Given the description of an element on the screen output the (x, y) to click on. 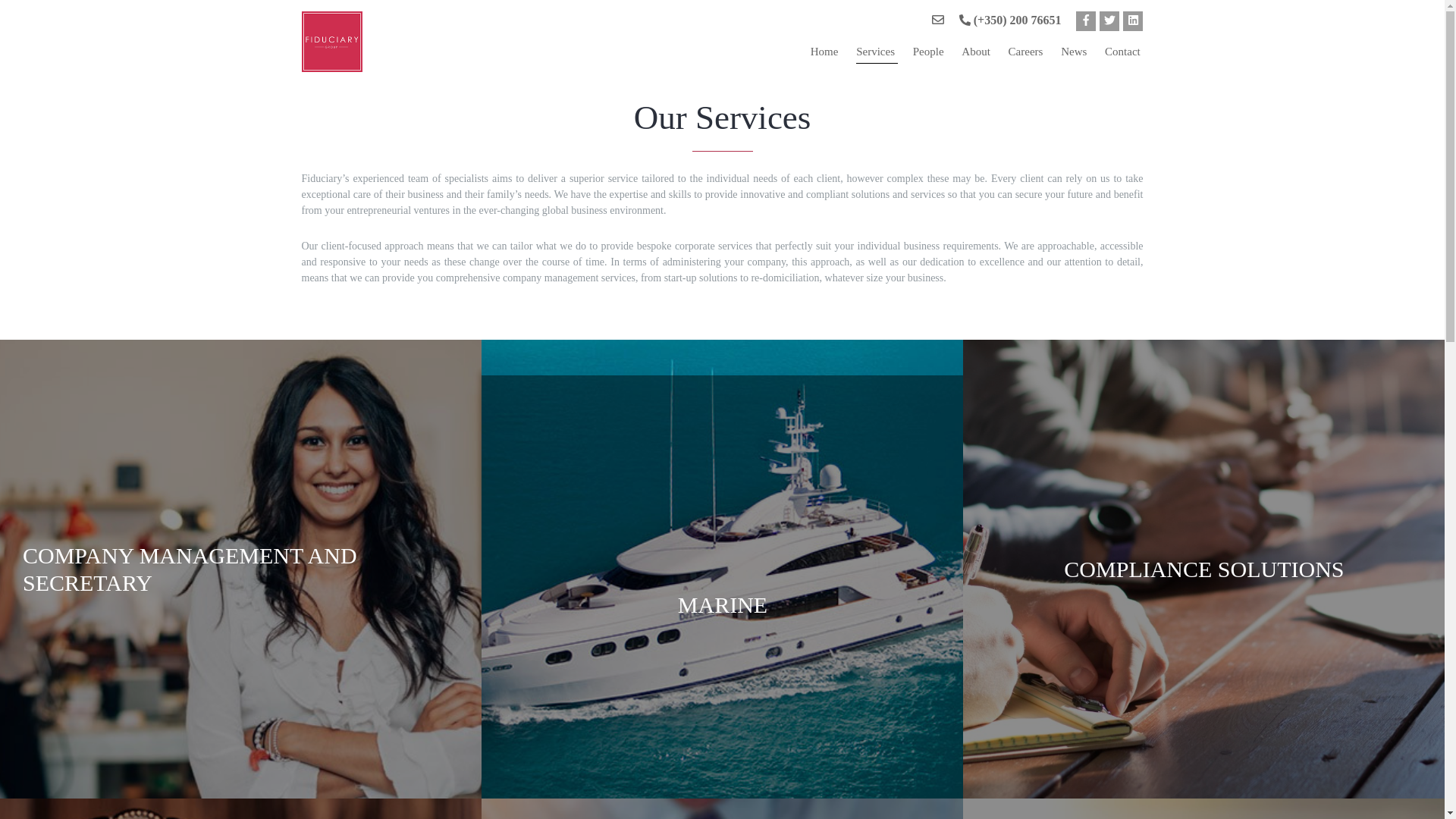
Careers (1027, 52)
Fiduciary Group (434, 45)
Contact (1123, 52)
Follow Us on LinkedIn (1132, 21)
Home (825, 52)
Follow Us on Facebook (1085, 21)
Services (877, 52)
Call Us (1010, 23)
People (929, 52)
About (976, 52)
Follow Us on Twitter (1109, 21)
